Given the description of an element on the screen output the (x, y) to click on. 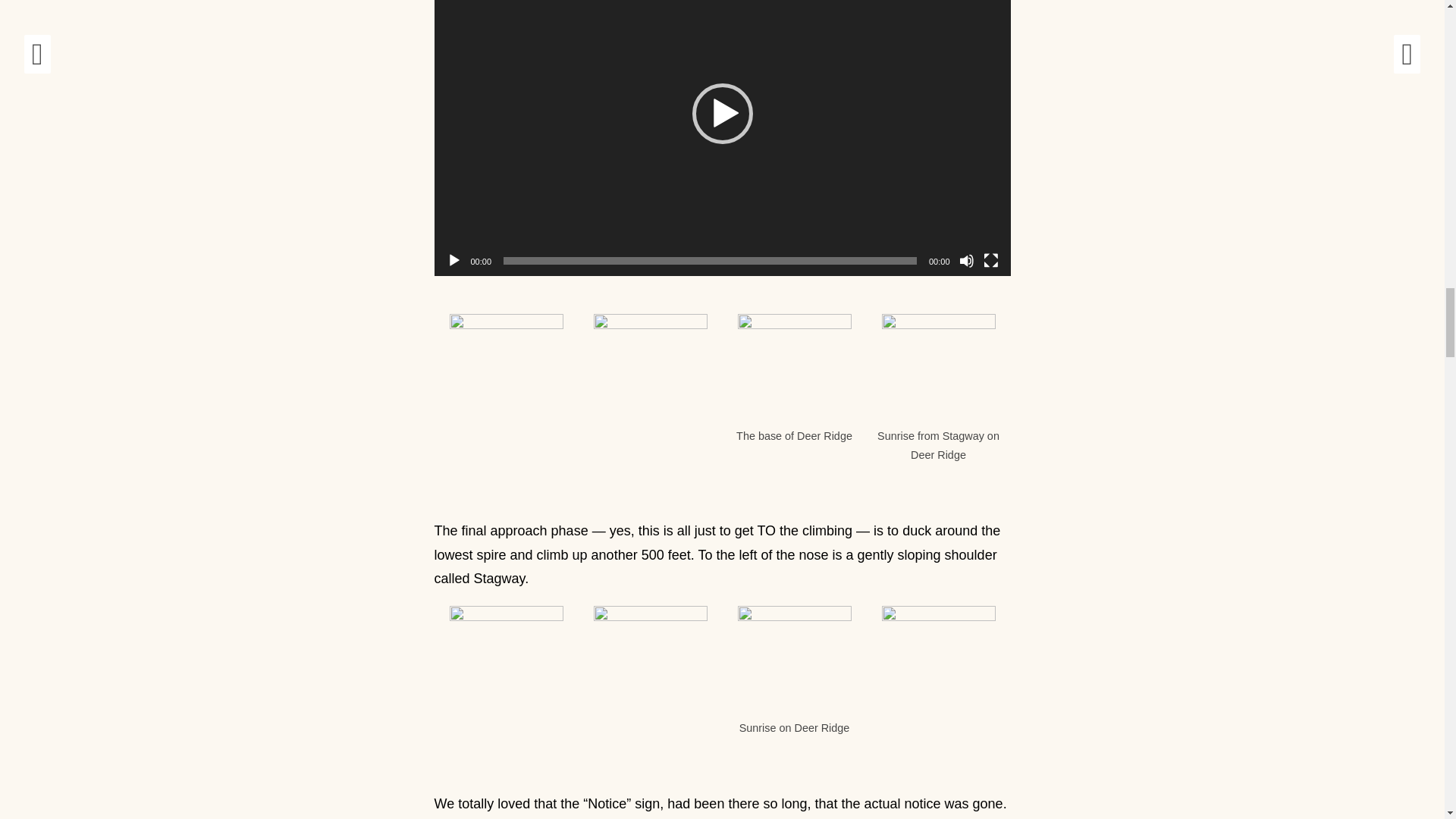
Play (453, 260)
Fullscreen (989, 260)
Mute (966, 260)
